Given the description of an element on the screen output the (x, y) to click on. 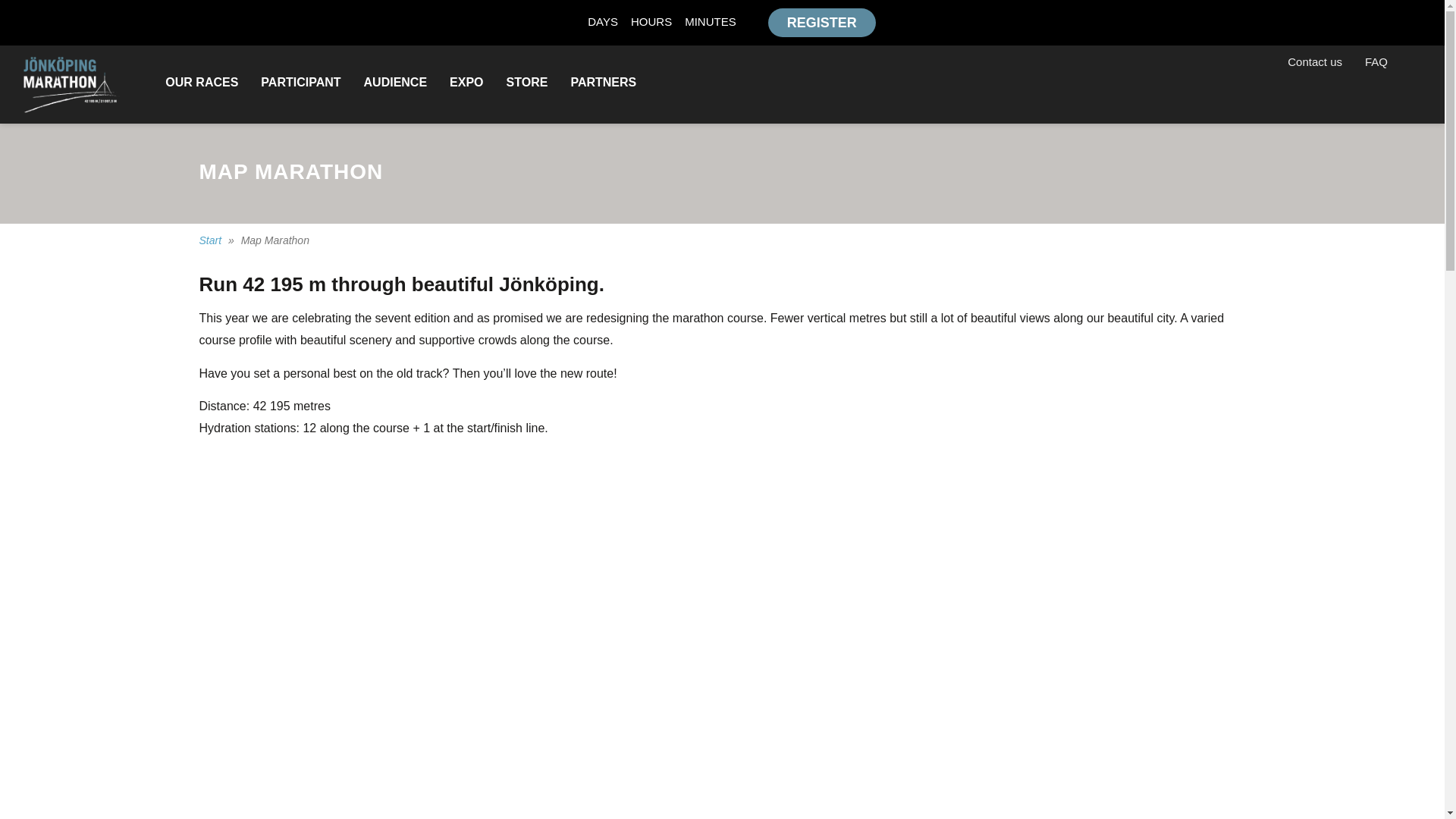
FAQ (1376, 61)
REGISTER (822, 22)
OUR RACES (201, 82)
Contact us (1315, 61)
